Given the description of an element on the screen output the (x, y) to click on. 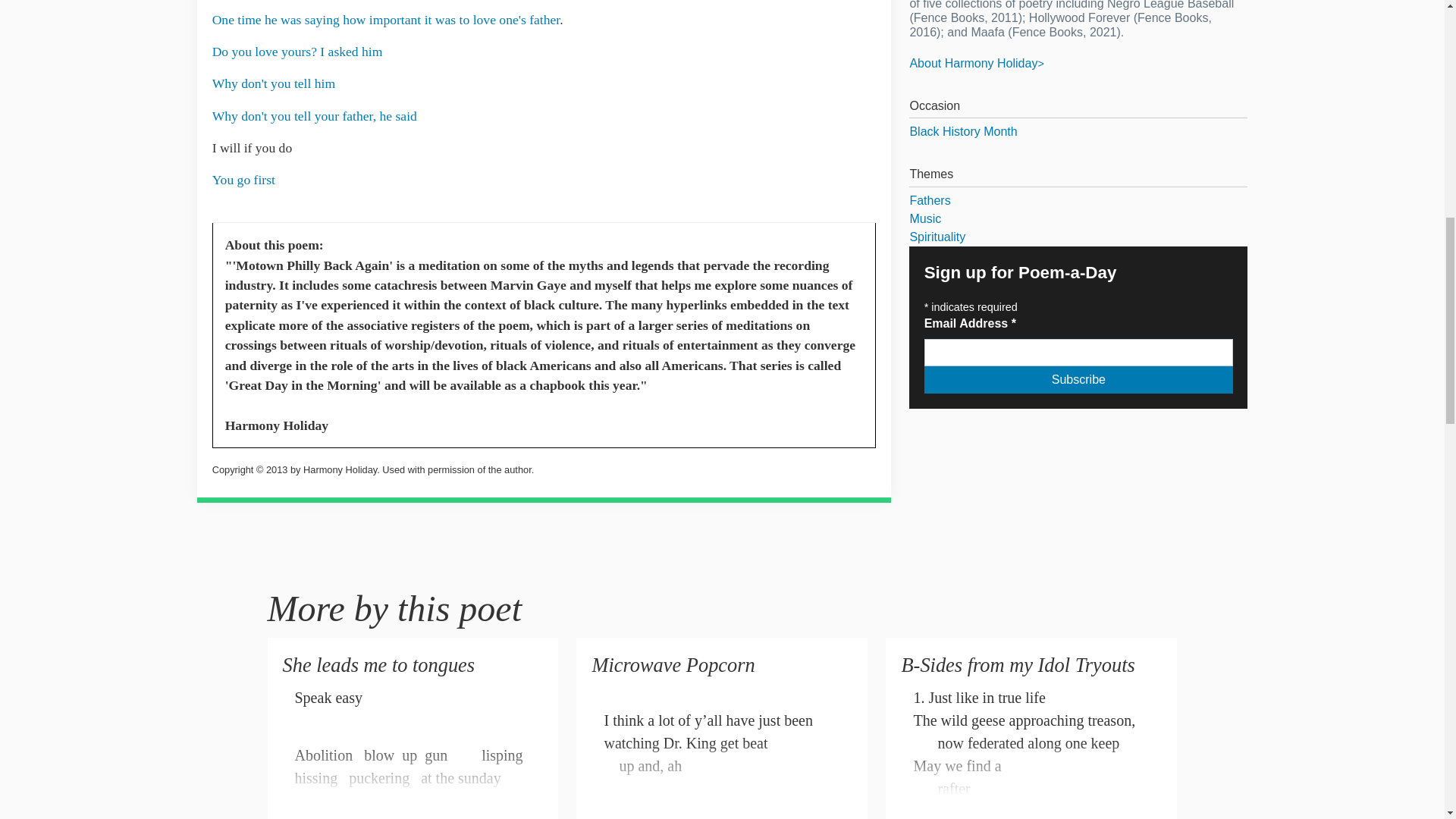
Subscribe (1078, 379)
